Given the description of an element on the screen output the (x, y) to click on. 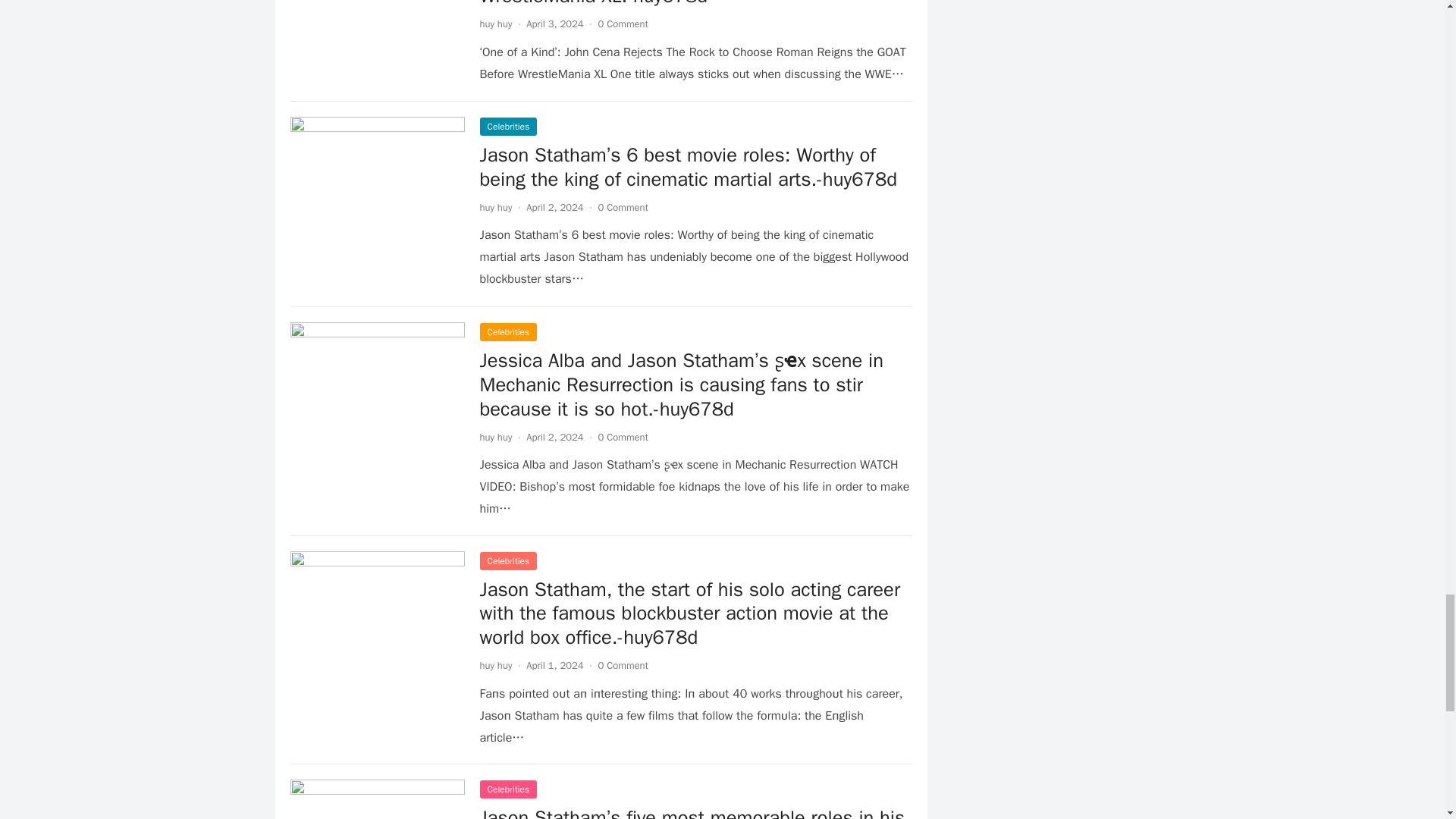
Posts by huy huy (495, 665)
Celebrities (508, 126)
0 Comment (622, 206)
Posts by huy huy (495, 436)
Posts by huy huy (495, 23)
0 Comment (622, 23)
Posts by huy huy (495, 206)
Celebrities (508, 331)
huy huy (495, 206)
huy huy (495, 23)
